Given the description of an element on the screen output the (x, y) to click on. 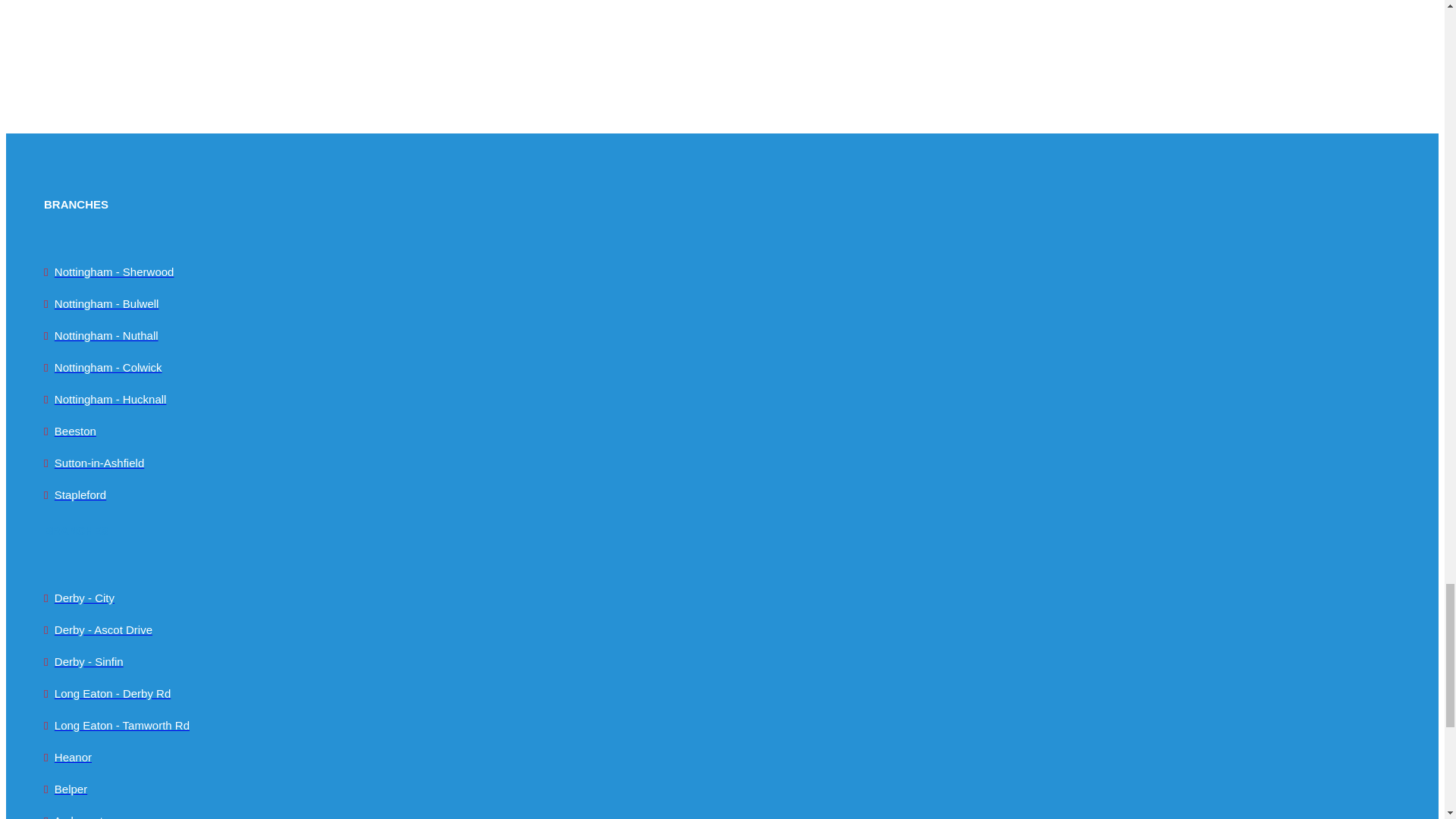
Nottingham - Sherwood (114, 271)
Nottingham - Bulwell (106, 303)
Nottingham - Colwick (108, 367)
Heanor (73, 757)
Beeston (75, 431)
Derby - Ascot Drive (103, 629)
Ambergate (81, 816)
Nottingham - Nuthall (106, 335)
Long Eaton - Tamworth Rd (122, 725)
